Given the description of an element on the screen output the (x, y) to click on. 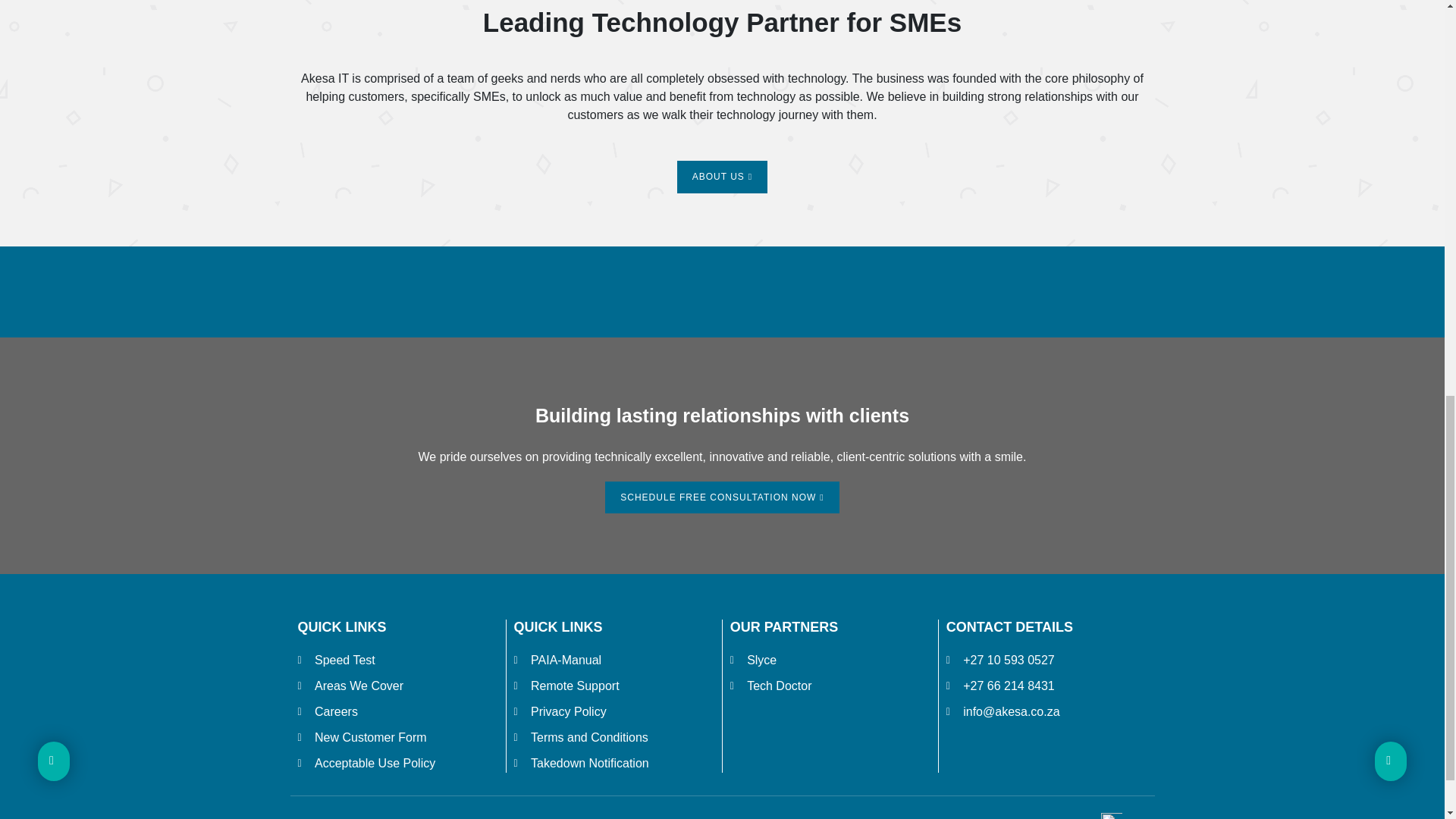
Learn More About Our Services (721, 497)
ABOUT US (722, 176)
Learn More About Our Services (722, 176)
